Given the description of an element on the screen output the (x, y) to click on. 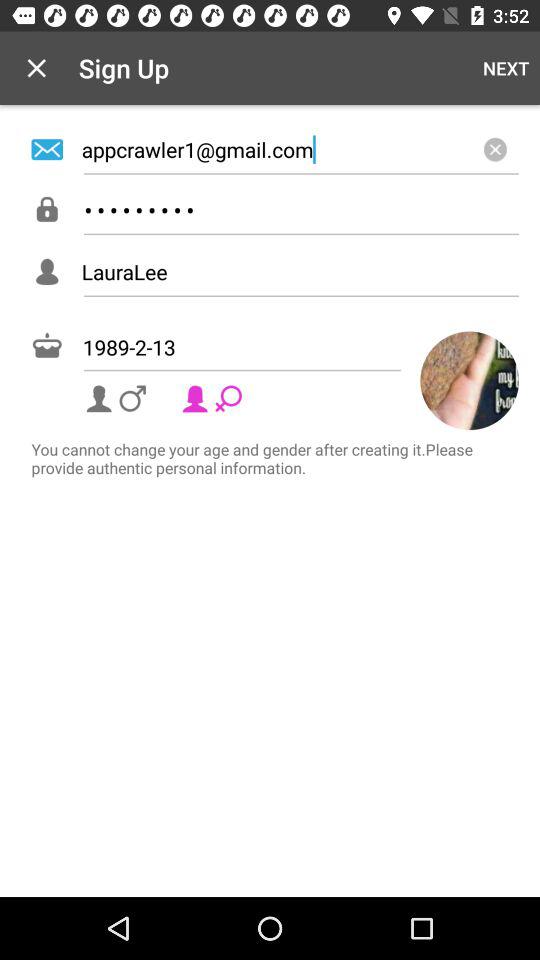
launch icon above you cannot change (469, 380)
